Given the description of an element on the screen output the (x, y) to click on. 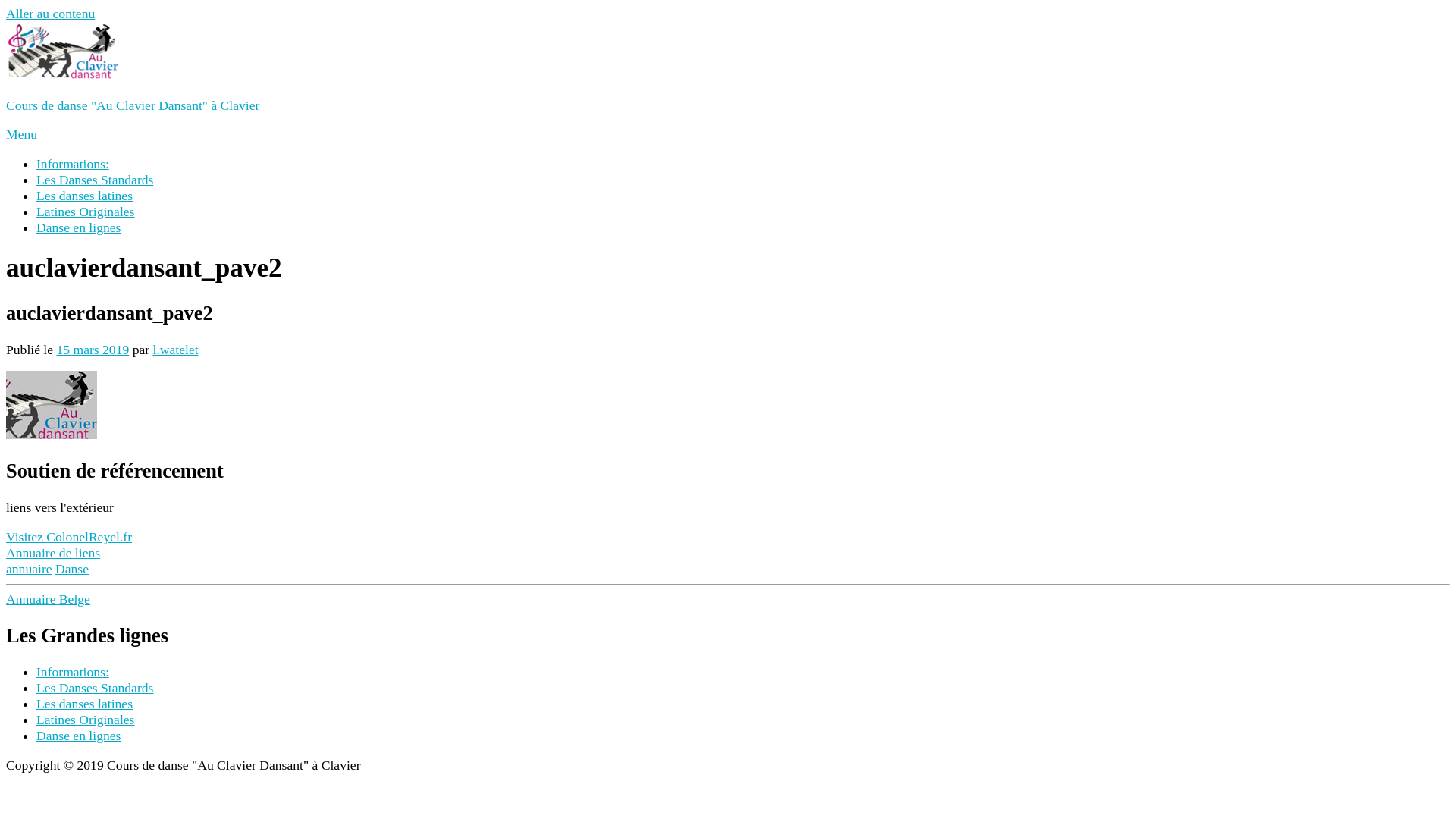
Les danses latines Element type: text (84, 195)
15 mars 2019 Element type: text (92, 349)
Visitez ColonelReyel.fr Element type: text (68, 536)
Informations: Element type: text (72, 671)
Latines Originales Element type: text (85, 719)
Menu Element type: text (21, 133)
annuaire Element type: text (29, 568)
Danse Element type: text (71, 568)
Danse en lignes Element type: text (78, 227)
Les danses latines Element type: text (84, 703)
l.watelet Element type: text (175, 349)
Annuaire de liens Element type: text (53, 552)
Les Danses Standards Element type: text (94, 179)
Informations: Element type: text (72, 163)
Les Danses Standards Element type: text (94, 687)
Annuaire Belge Element type: text (48, 598)
Latines Originales Element type: text (85, 211)
Aller au contenu Element type: text (50, 13)
Danse en lignes Element type: text (78, 735)
